Given the description of an element on the screen output the (x, y) to click on. 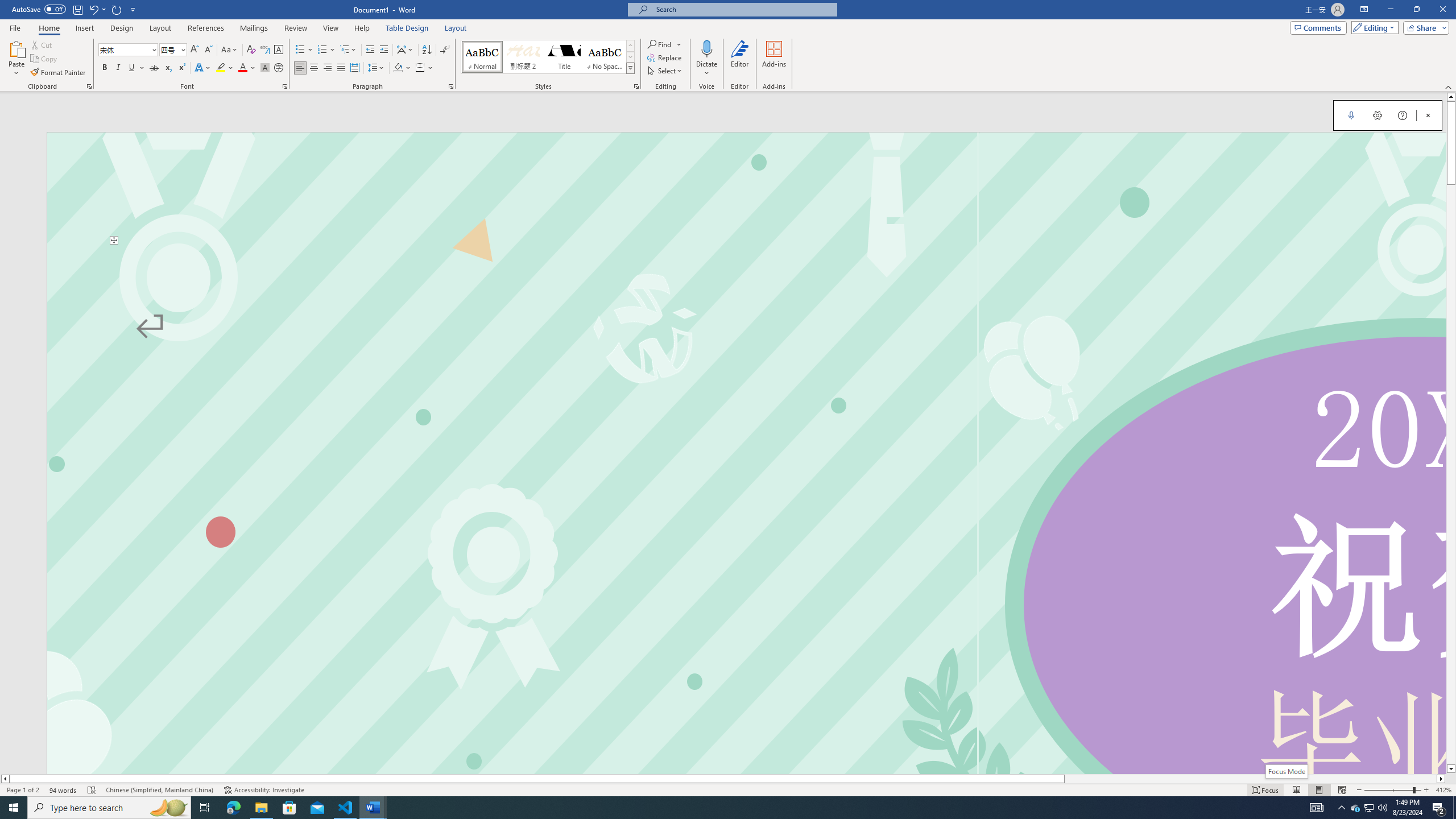
Focus Mode (1286, 771)
Undo Text Fill Effect (92, 9)
